Given the description of an element on the screen output the (x, y) to click on. 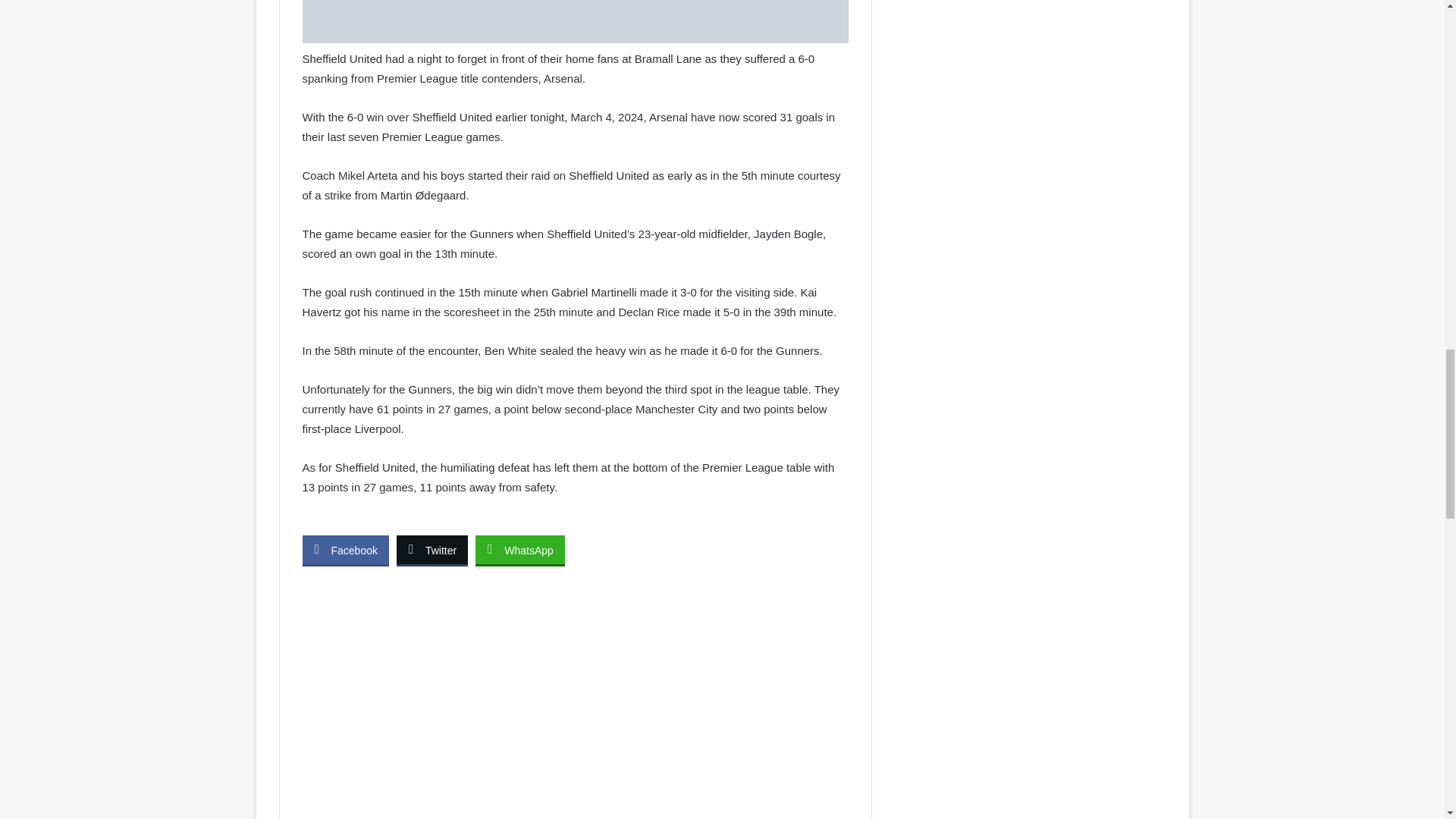
Twitter (431, 549)
Advertisement (574, 704)
WhatsApp (520, 549)
Facebook (344, 549)
